Given the description of an element on the screen output the (x, y) to click on. 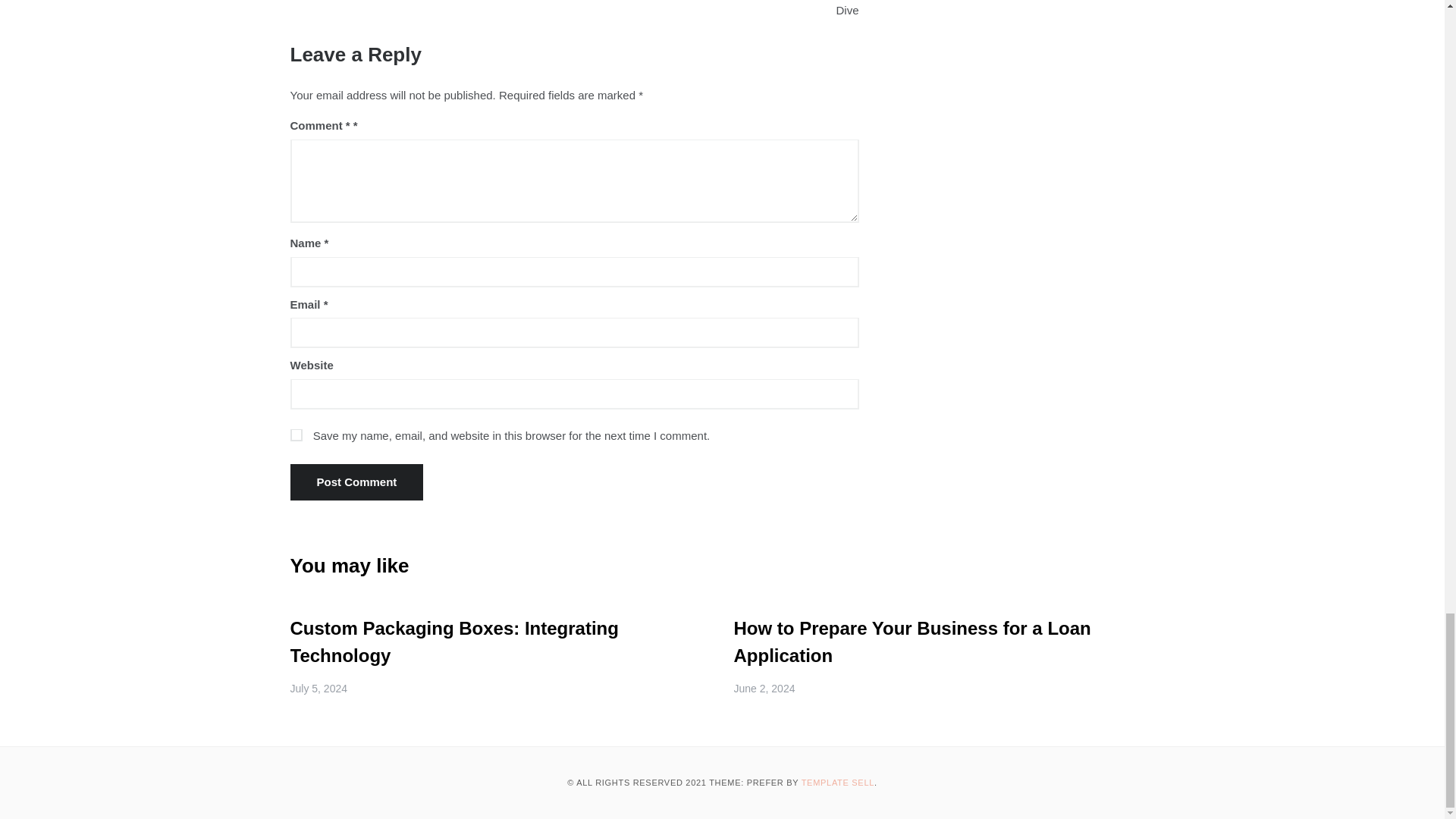
Unveiling the Secrets of Game Development: A Deep Dive (722, 13)
yes (295, 435)
Post Comment (356, 482)
Post Comment (356, 482)
